Given the description of an element on the screen output the (x, y) to click on. 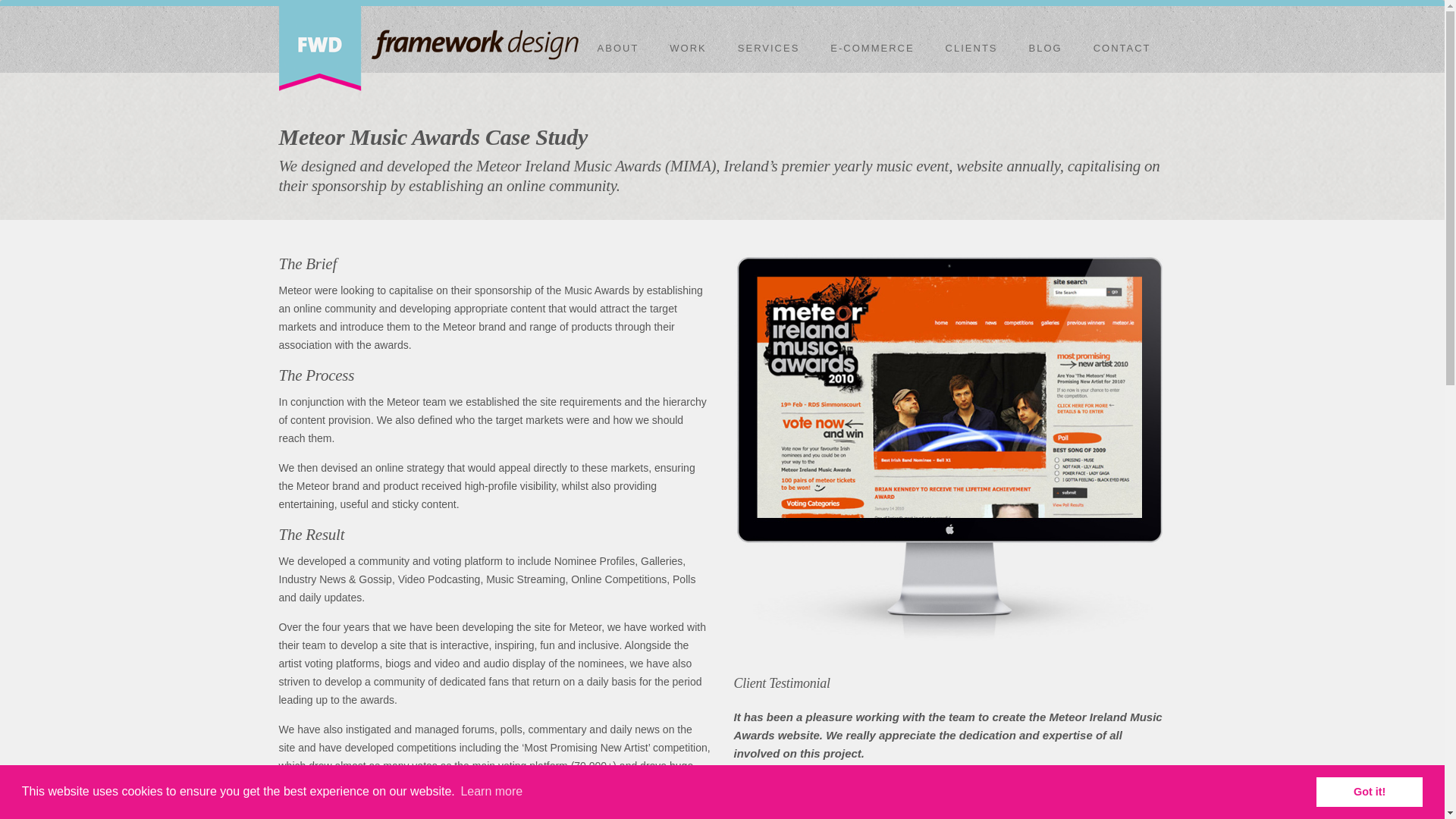
CONTACT (1122, 47)
Got it! (1369, 791)
ABOUT (617, 47)
WORK (686, 47)
SERVICES (768, 47)
CLIENTS (971, 47)
BLOG (1045, 47)
E-COMMERCE (871, 47)
Learn more (491, 791)
